Given the description of an element on the screen output the (x, y) to click on. 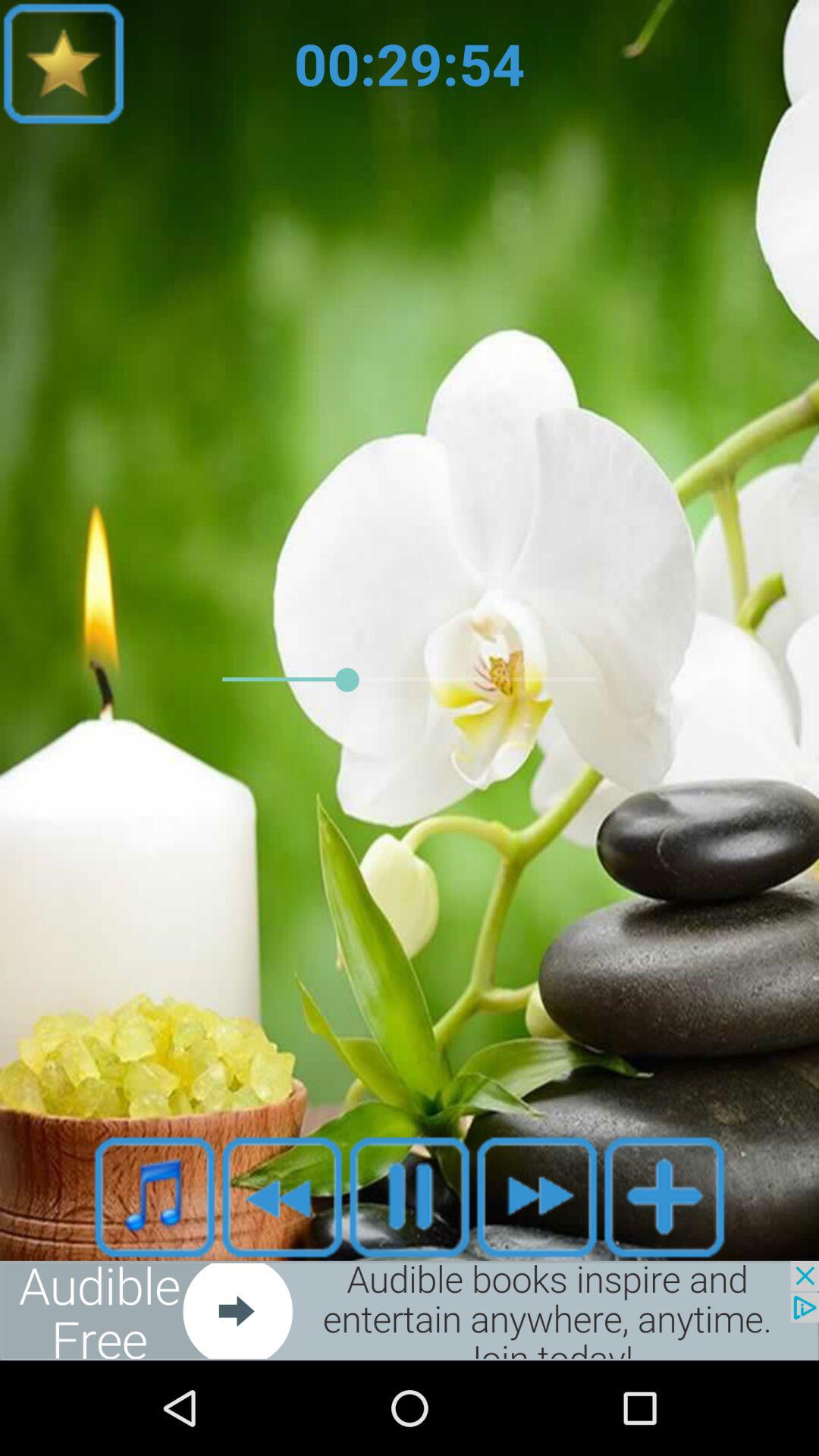
play next music (536, 1196)
